Given the description of an element on the screen output the (x, y) to click on. 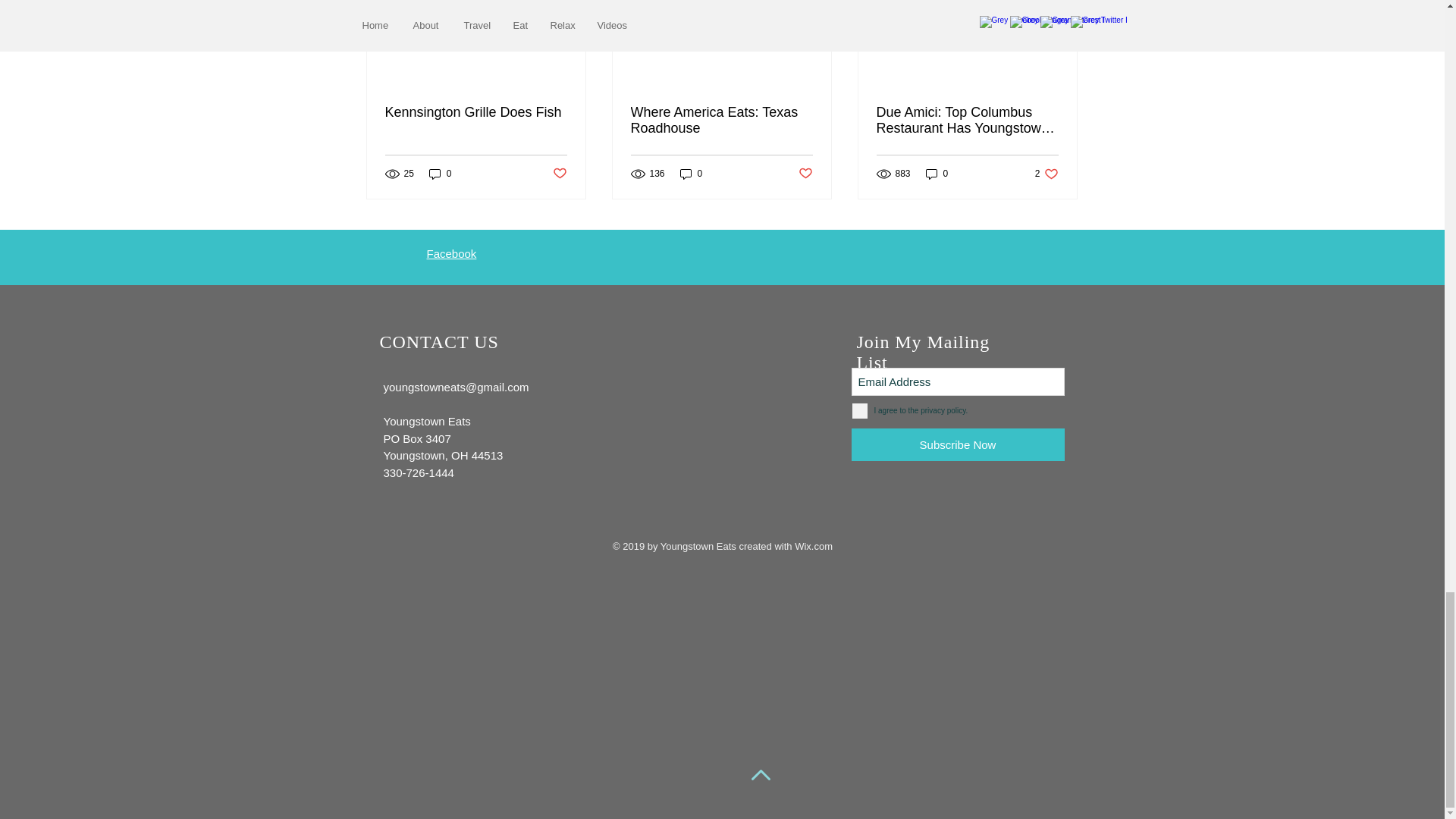
Post not marked as liked (558, 173)
Post not marked as liked (804, 173)
Due Amici: Top Columbus Restaurant Has Youngstown Roots (967, 120)
Wix.com (813, 546)
0 (937, 173)
0 (691, 173)
Where America Eats: Texas Roadhouse (721, 120)
Facebook (451, 253)
0 (1046, 173)
